Given the description of an element on the screen output the (x, y) to click on. 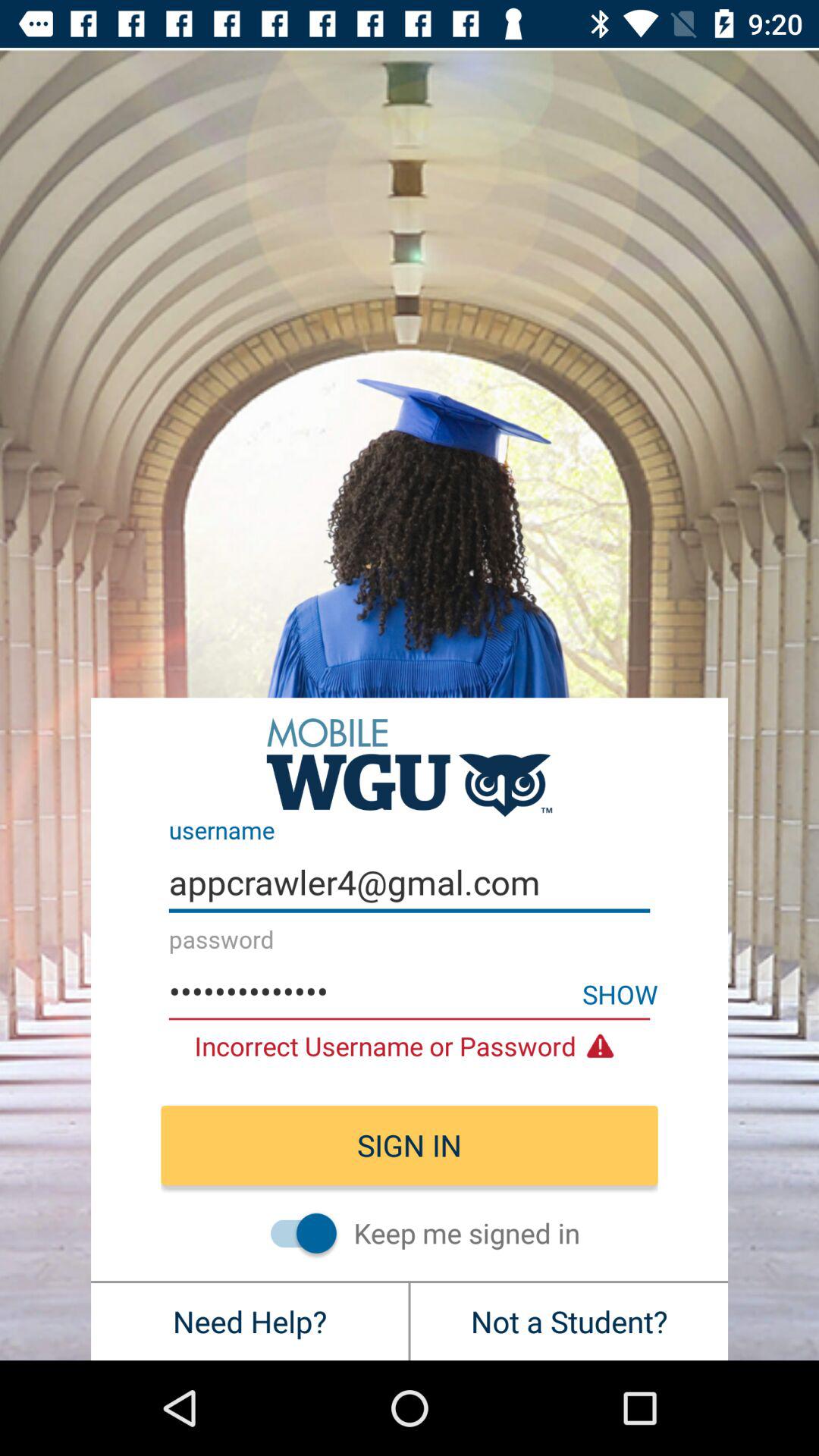
toggle stay signed in (295, 1232)
